Given the description of an element on the screen output the (x, y) to click on. 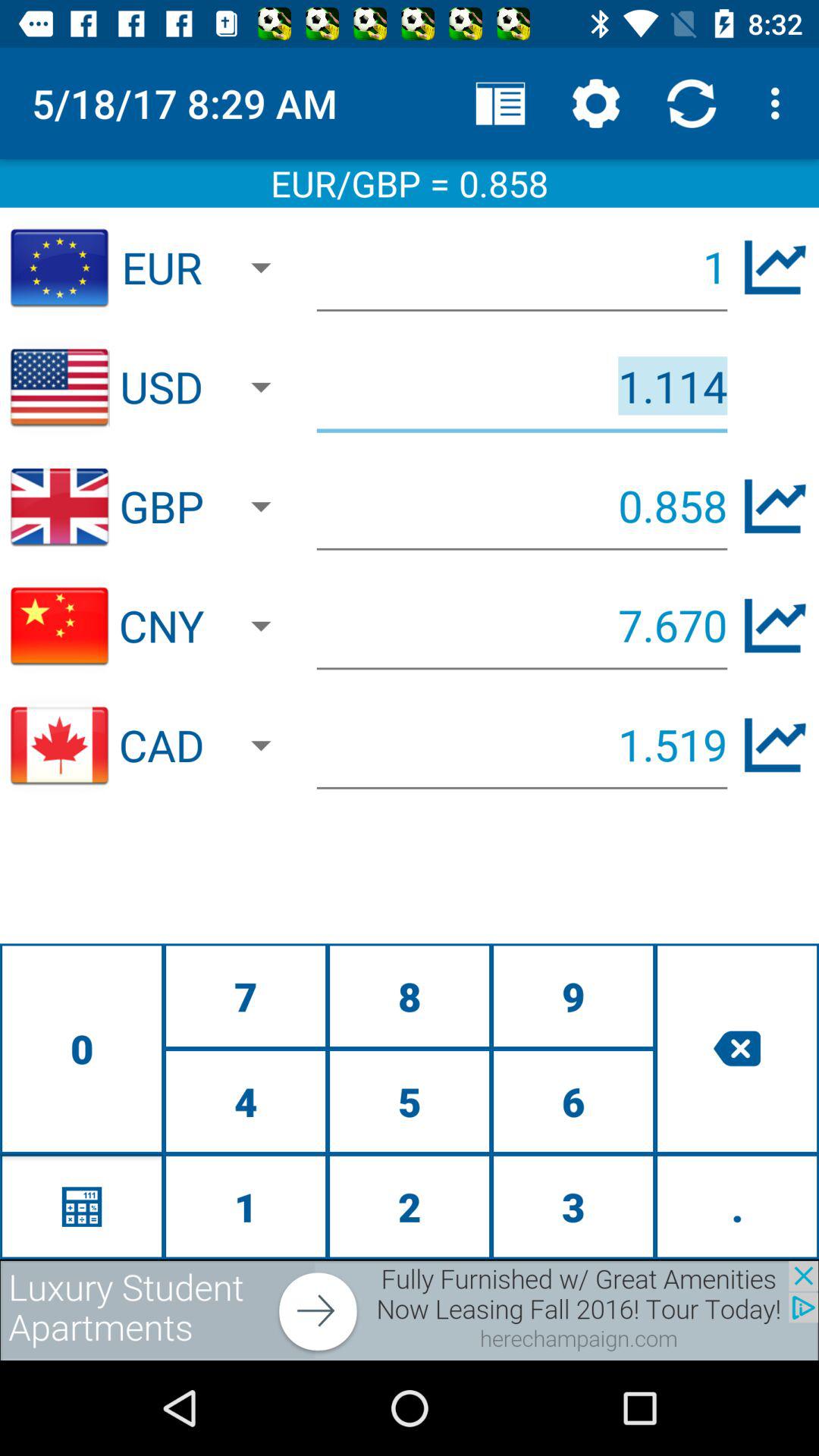
delete one number (737, 1048)
